Given the description of an element on the screen output the (x, y) to click on. 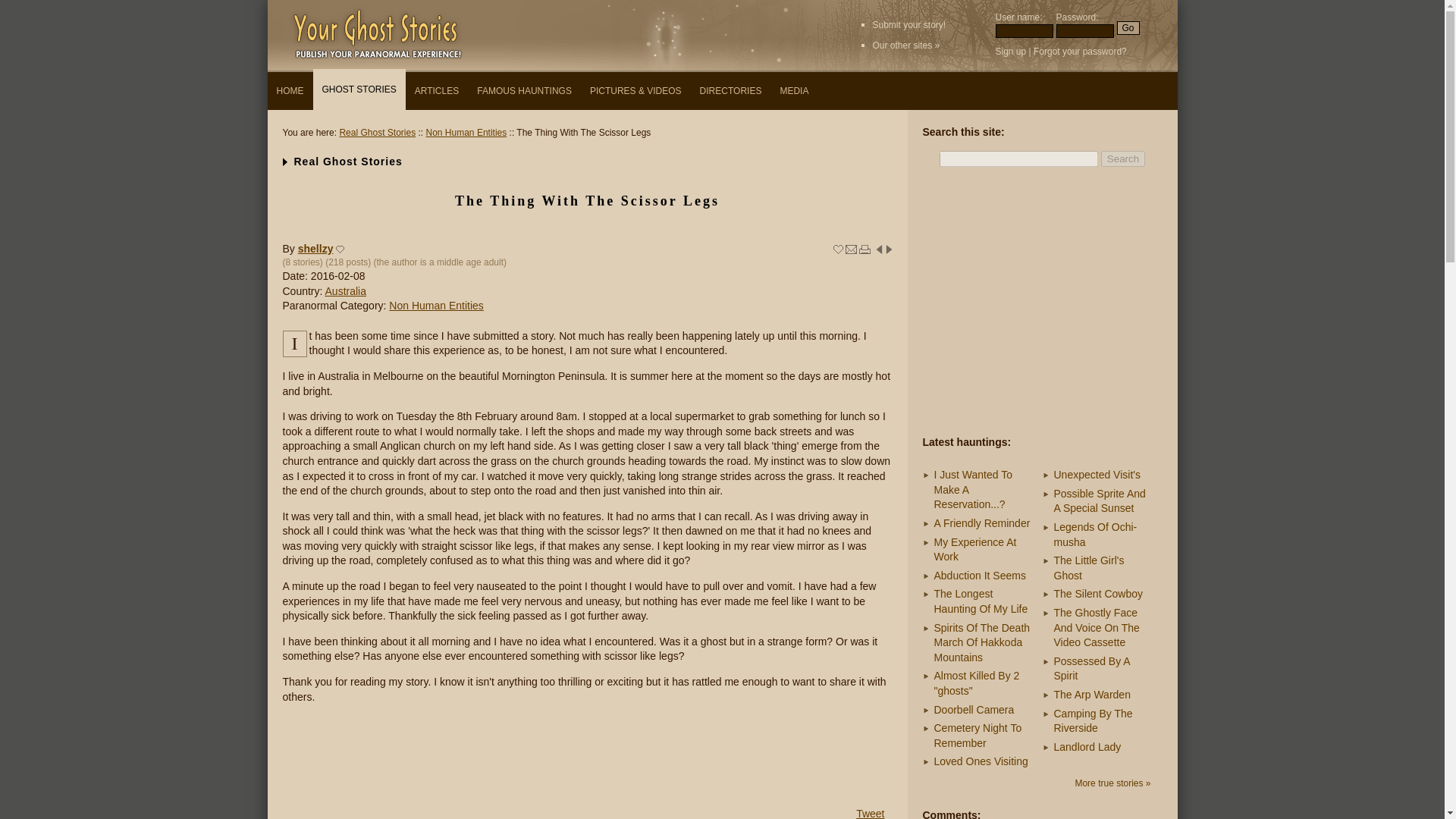
GHOST STORIES (358, 88)
Add shellzy to your favorite people (340, 248)
Print this story (864, 248)
shellzy (315, 248)
Advertisement (1041, 303)
Advertisement (587, 753)
Print this story (864, 248)
ARTICLES (436, 90)
Tweet (869, 813)
Add to your favorite stories (837, 248)
